Given the description of an element on the screen output the (x, y) to click on. 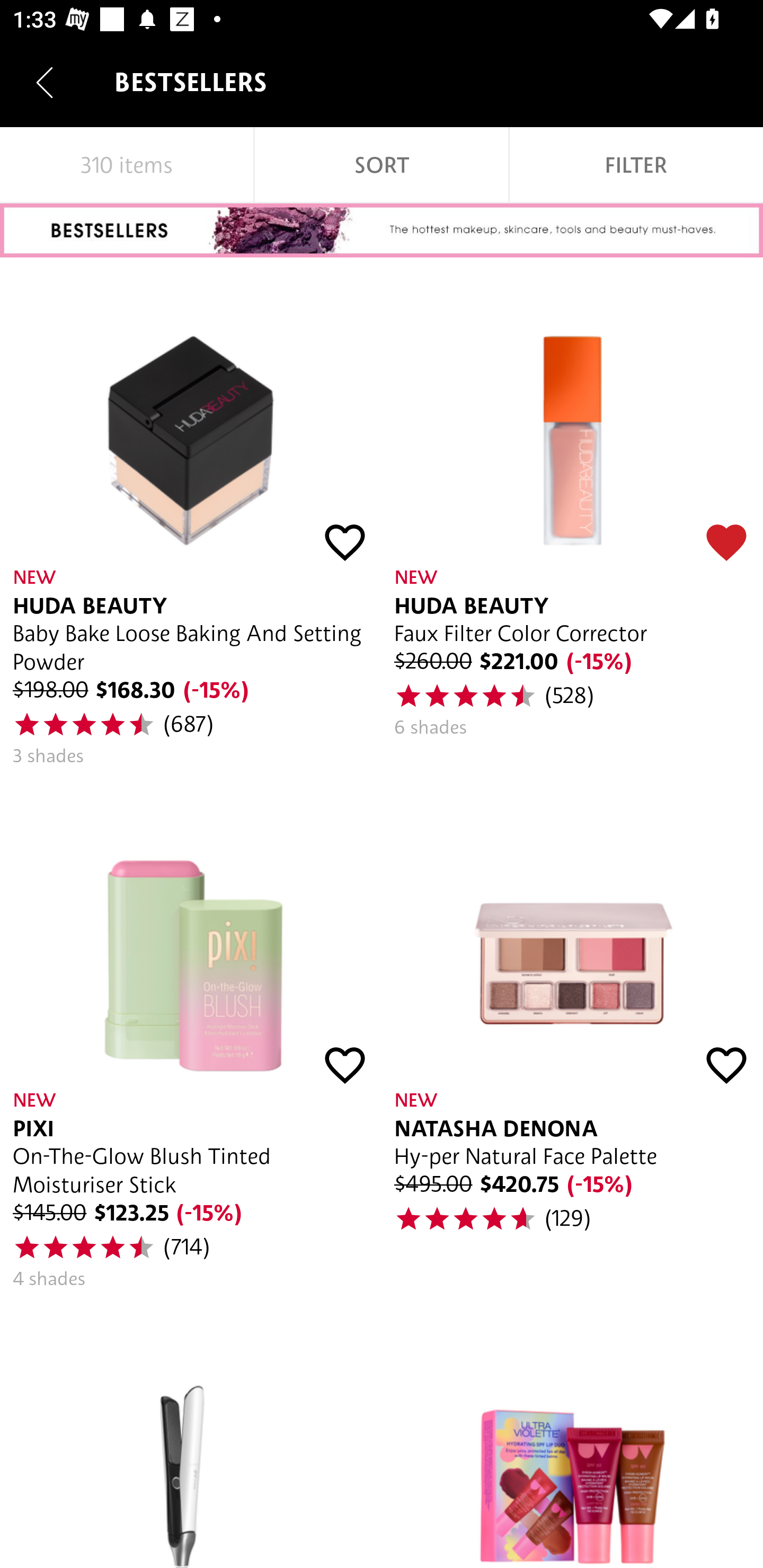
Navigate up (44, 82)
SORT (381, 165)
FILTER (636, 165)
